Given the description of an element on the screen output the (x, y) to click on. 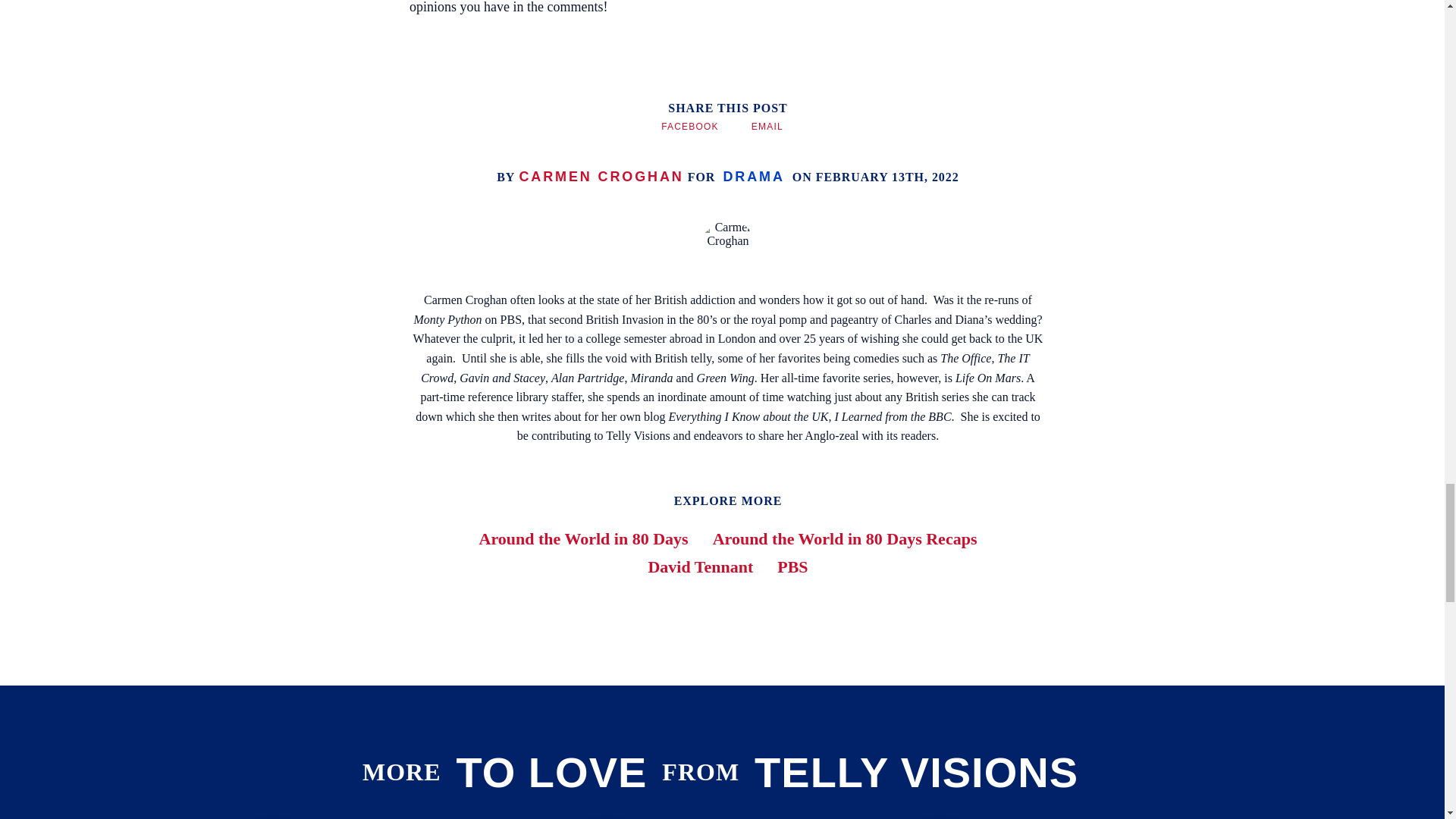
PBS (792, 566)
Around the World in 80 Days Recaps (844, 538)
David Tennant (699, 566)
Around the World in 80 Days (583, 538)
Facebook (690, 126)
CARMEN CROGHAN (601, 176)
EMAIL (767, 126)
FACEBOOK (690, 126)
DRAMA (753, 176)
Email (767, 126)
